Given the description of an element on the screen output the (x, y) to click on. 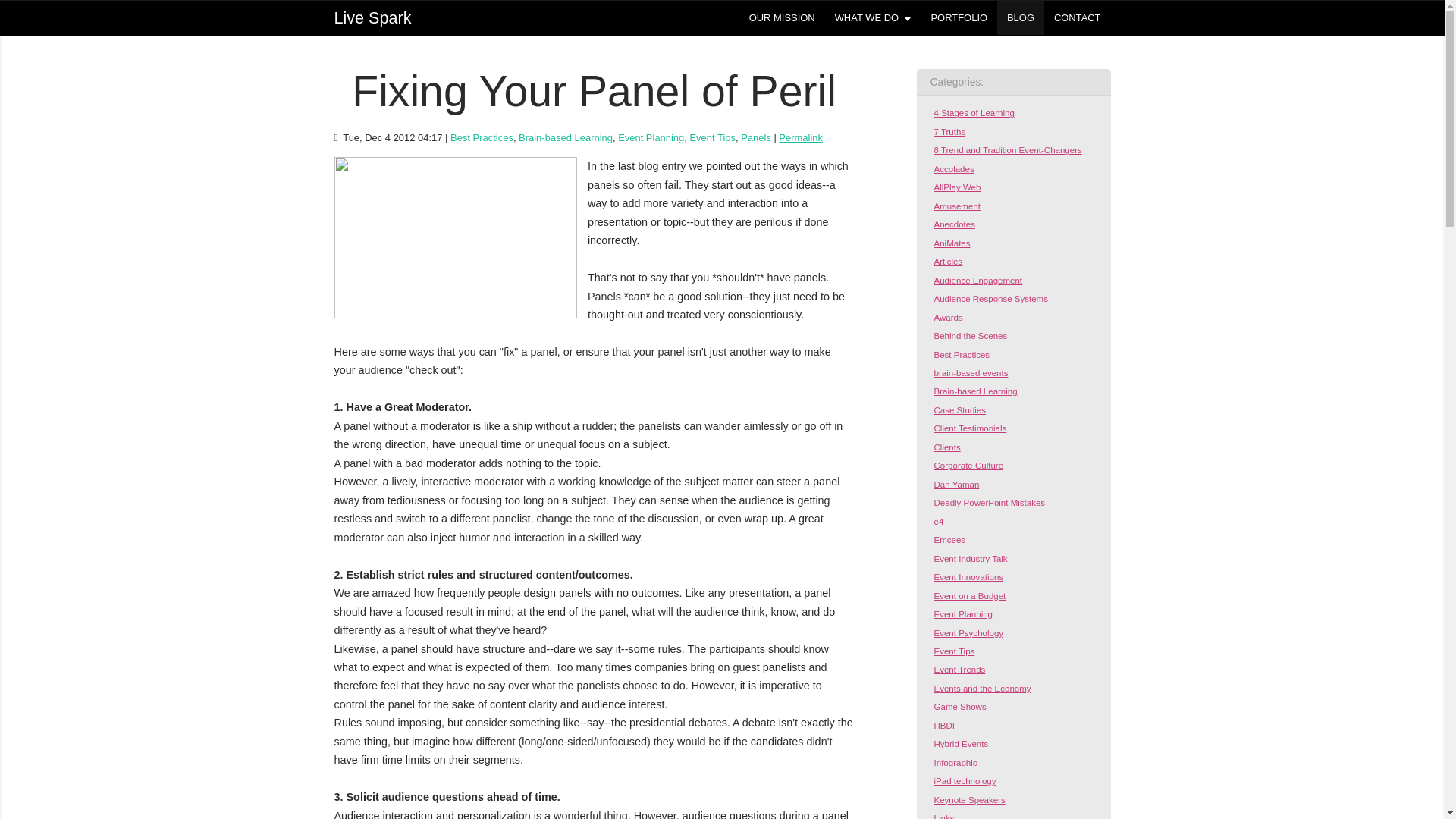
7 Truths (944, 131)
4 Stages of Learning (969, 112)
OUR MISSION (782, 17)
AniMates (947, 243)
Permalink (800, 137)
Event Tips (711, 137)
8 Trend and Tradition Event-Changers (1002, 149)
Articles (943, 261)
Audience Response Systems (986, 298)
Best Practices (481, 137)
Brain-based Learning (565, 137)
Awards (943, 317)
WHAT WE DO (873, 17)
Panels (756, 137)
Audience Engagement (973, 280)
